Given the description of an element on the screen output the (x, y) to click on. 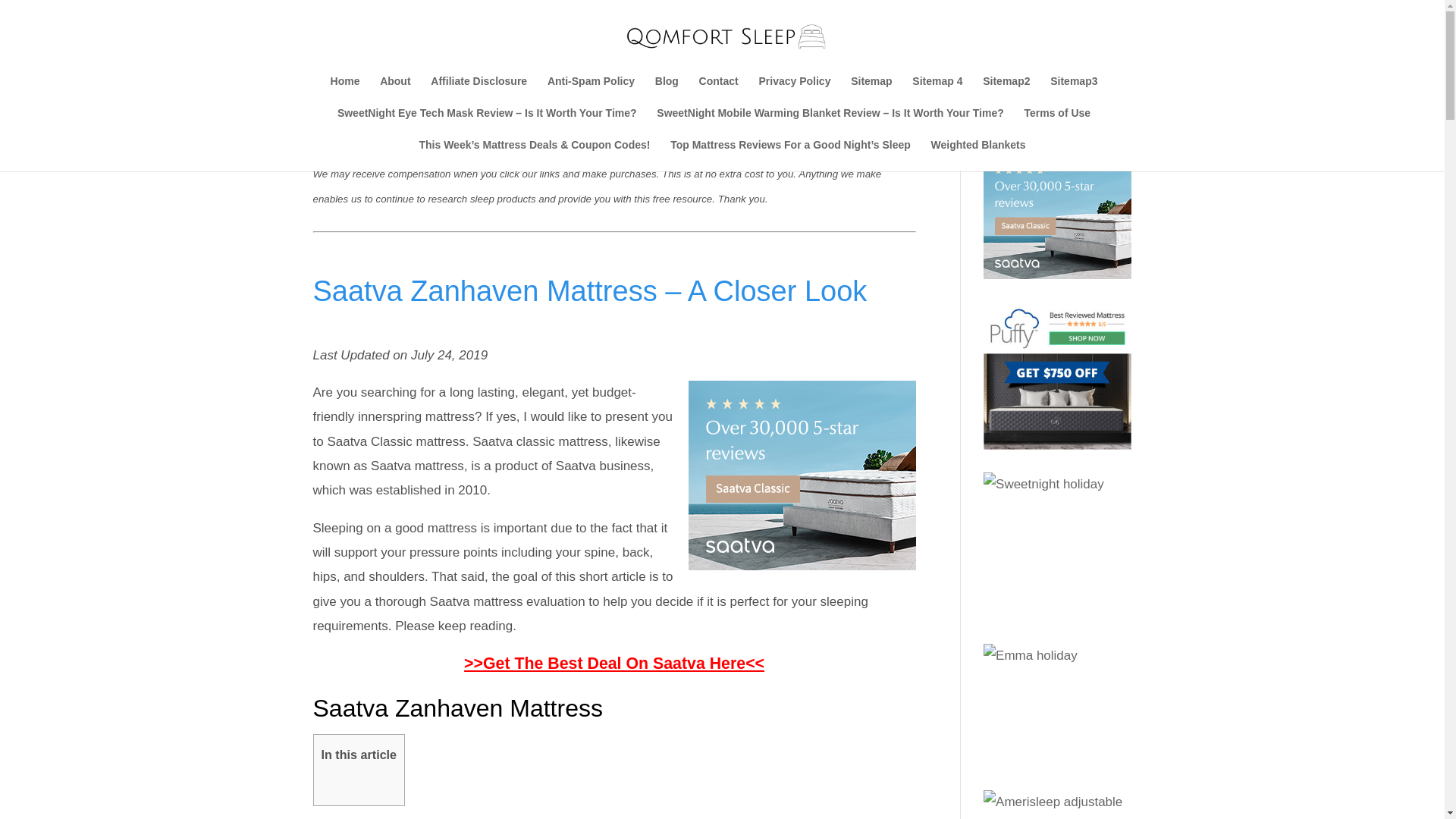
Sitemap 4 (937, 91)
About (395, 91)
Weighted Blankets (978, 155)
Sitemap3 (1073, 91)
Sitemap (870, 91)
Privacy Policy (793, 91)
Terms of Use (1056, 123)
Blog (666, 91)
Home (344, 91)
Affiliate Disclosure (478, 91)
Anti-Spam Policy (590, 91)
Contact (718, 91)
Sitemap2 (1005, 91)
